Given the description of an element on the screen output the (x, y) to click on. 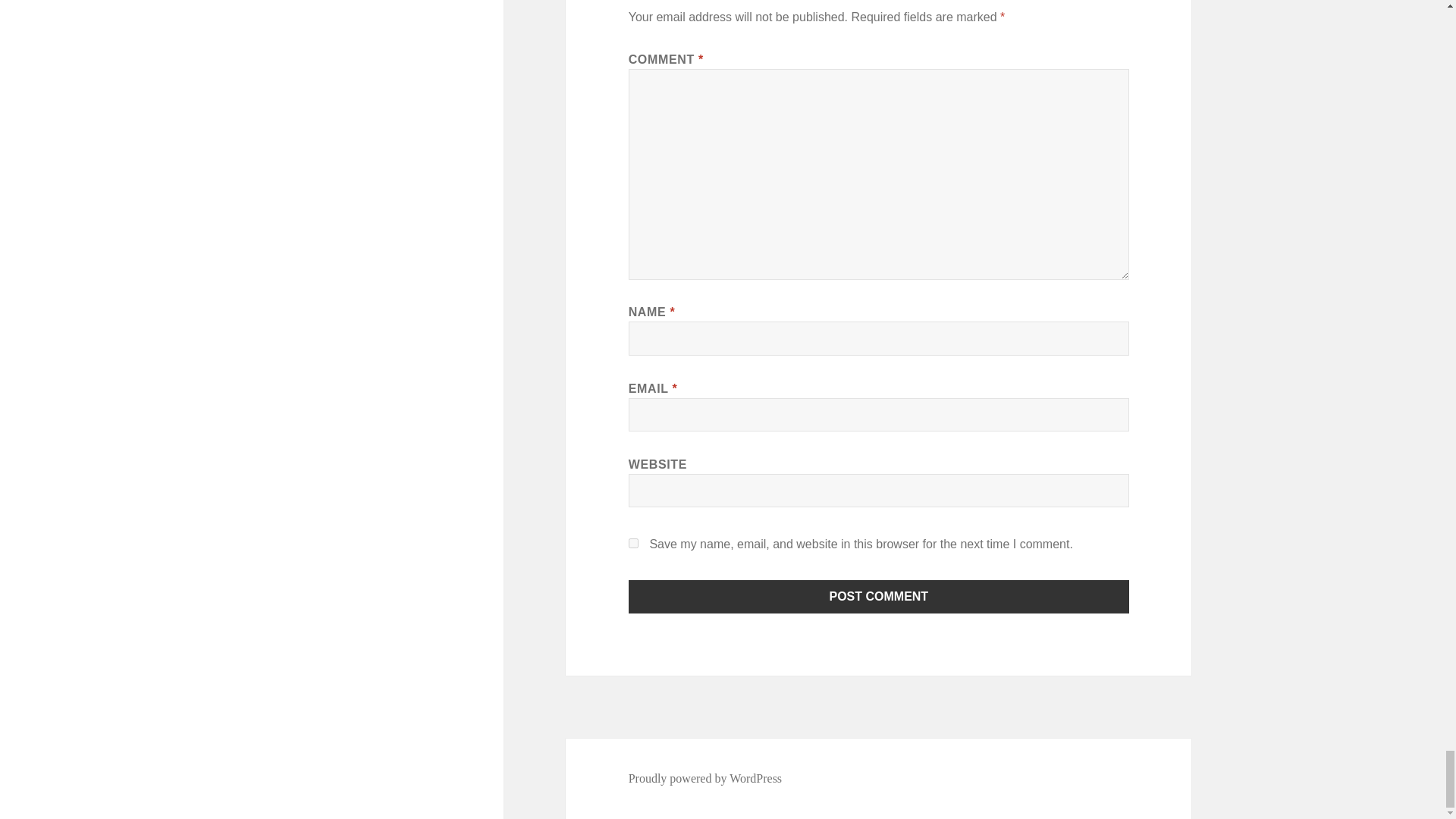
yes (633, 542)
Post Comment (878, 595)
Post Comment (878, 595)
Proudly powered by WordPress (704, 778)
